Given the description of an element on the screen output the (x, y) to click on. 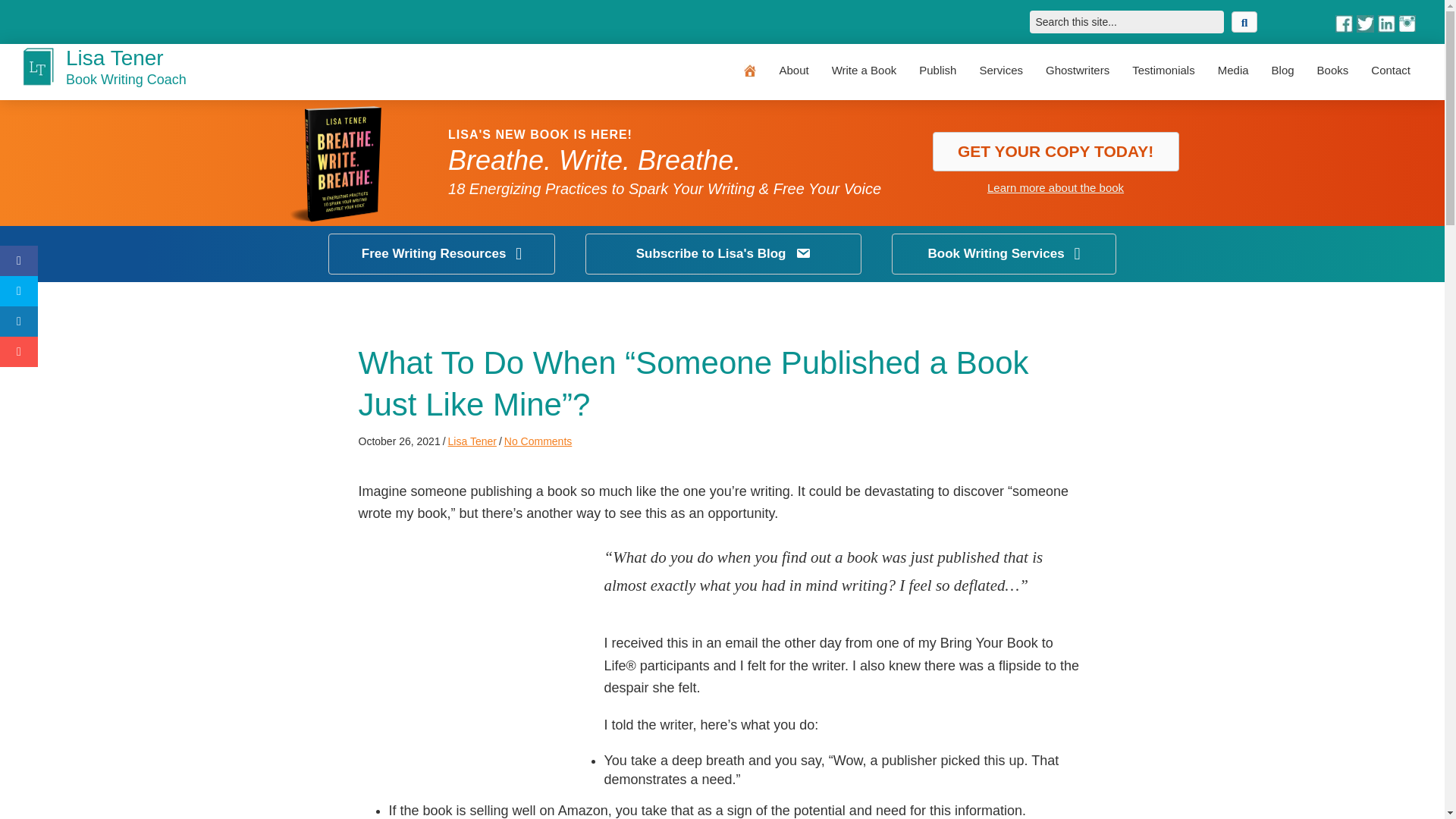
Blog (1283, 70)
Services (1000, 70)
Publish (937, 70)
Media (1233, 70)
About (793, 70)
Contact (1390, 70)
Ghostwriters (1077, 70)
Testimonials (1164, 70)
Books (1332, 70)
breathe-write-breathe-lisa-tener-book-mockup (341, 162)
Write a Book (864, 70)
